Given the description of an element on the screen output the (x, y) to click on. 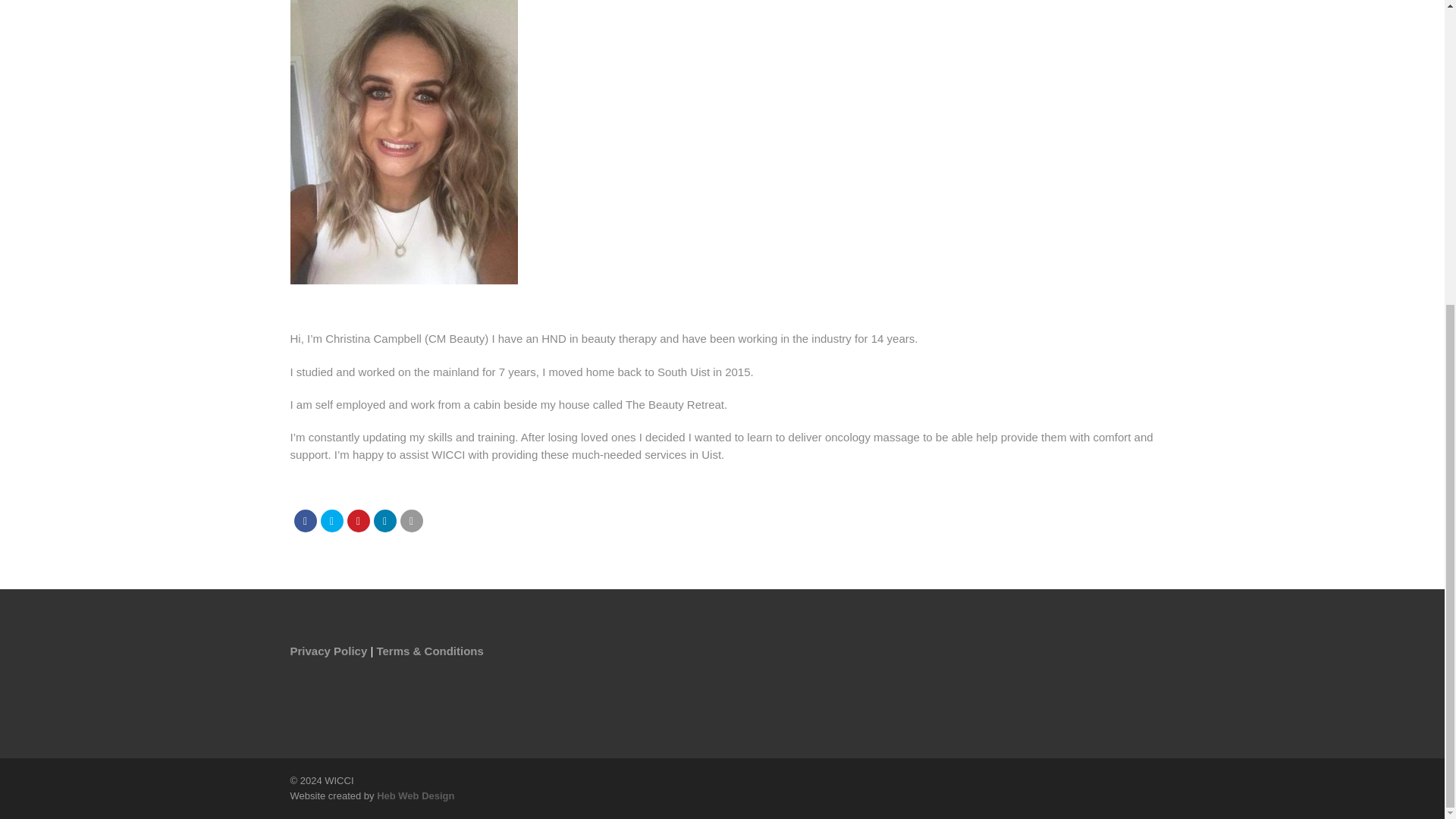
Heb Web Design (415, 795)
Share on Facebook (305, 519)
Share on Linkedin (384, 519)
Email (411, 519)
Tweet (331, 519)
Privacy Policy (327, 649)
Pin it (358, 519)
